Given the description of an element on the screen output the (x, y) to click on. 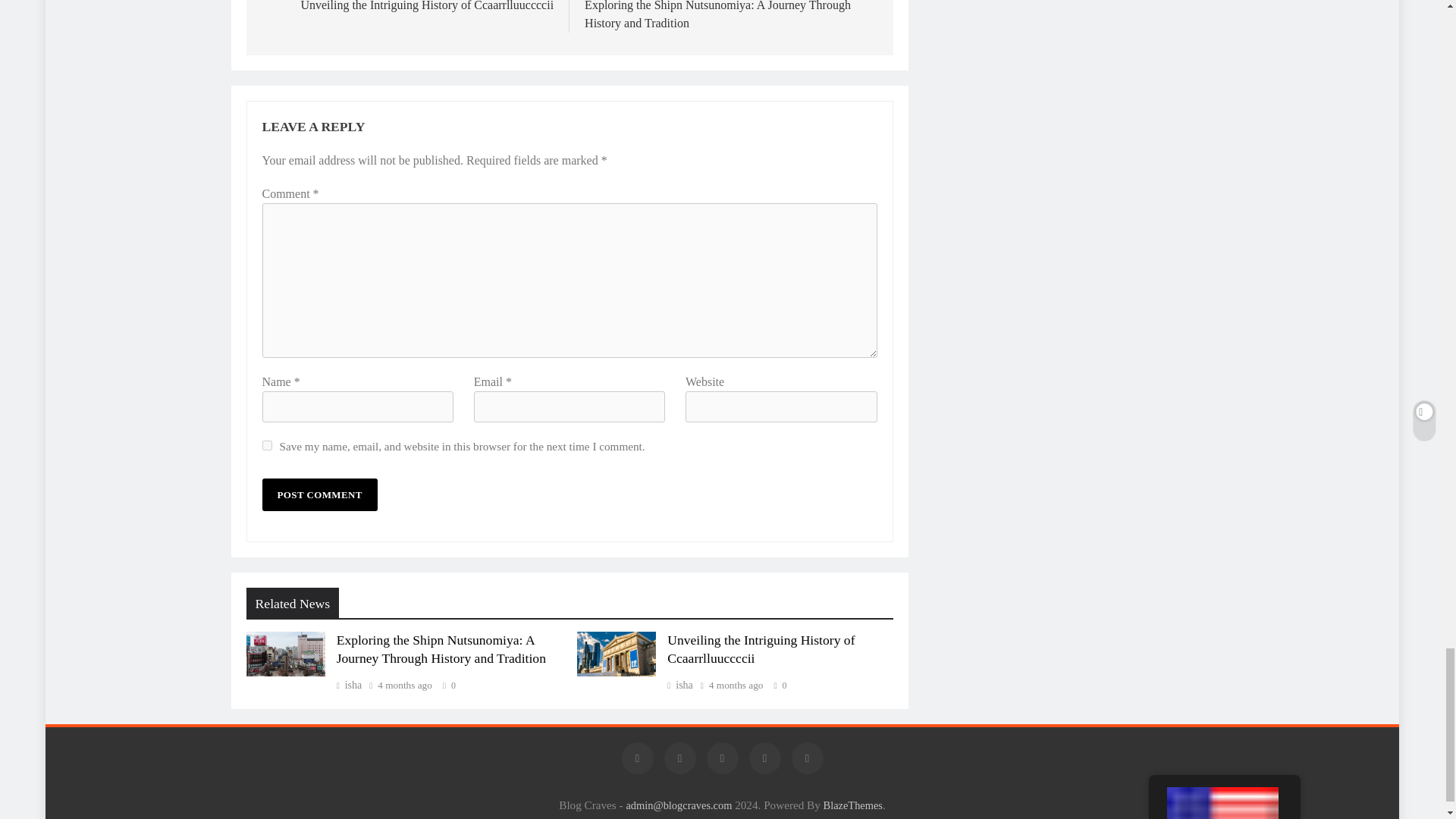
Post Comment (319, 494)
yes (267, 445)
